Given the description of an element on the screen output the (x, y) to click on. 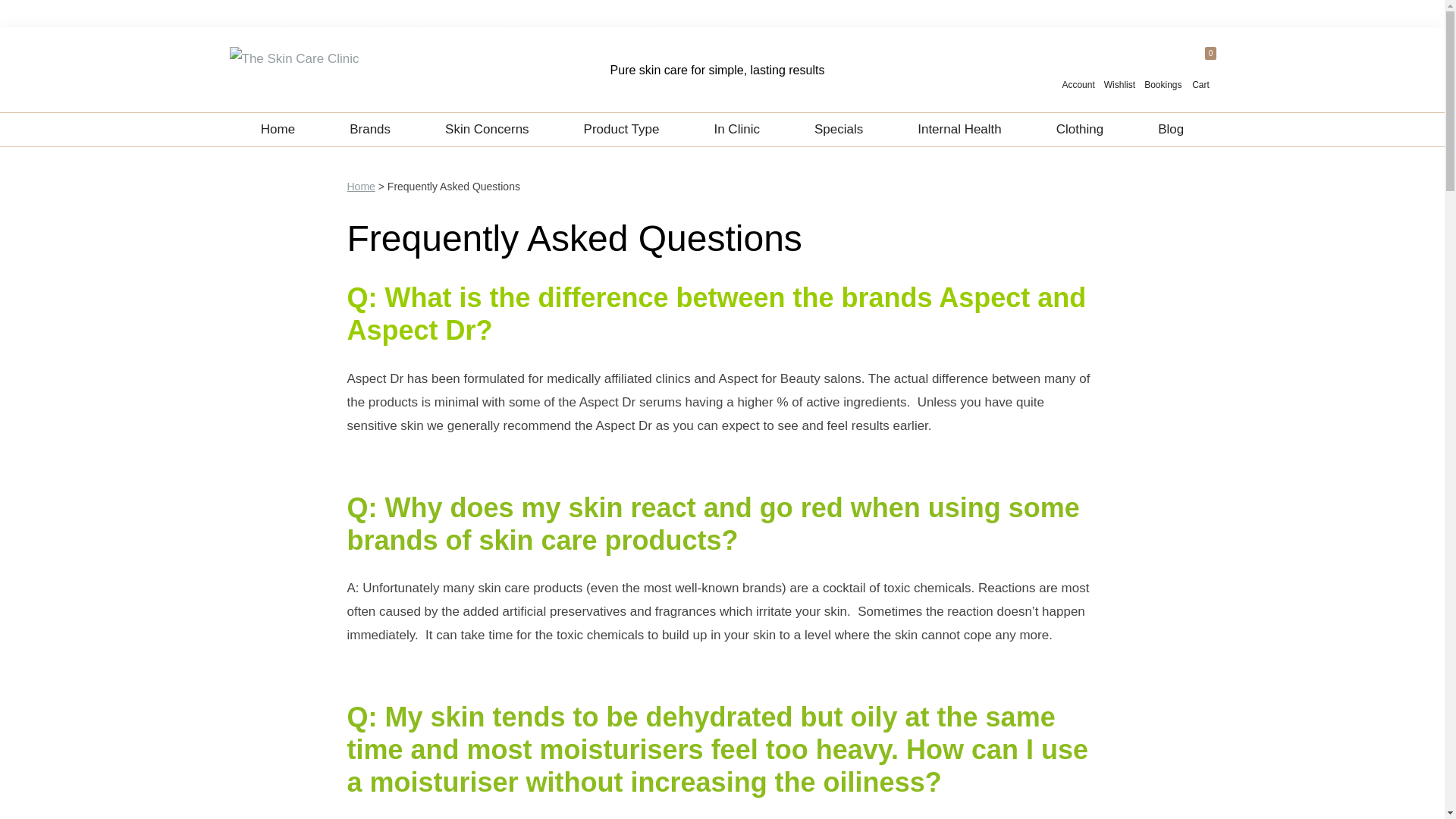
Brands (369, 129)
Wishlist (1119, 72)
Bookings (1163, 72)
Home (276, 129)
Account (1071, 72)
